Given the description of an element on the screen output the (x, y) to click on. 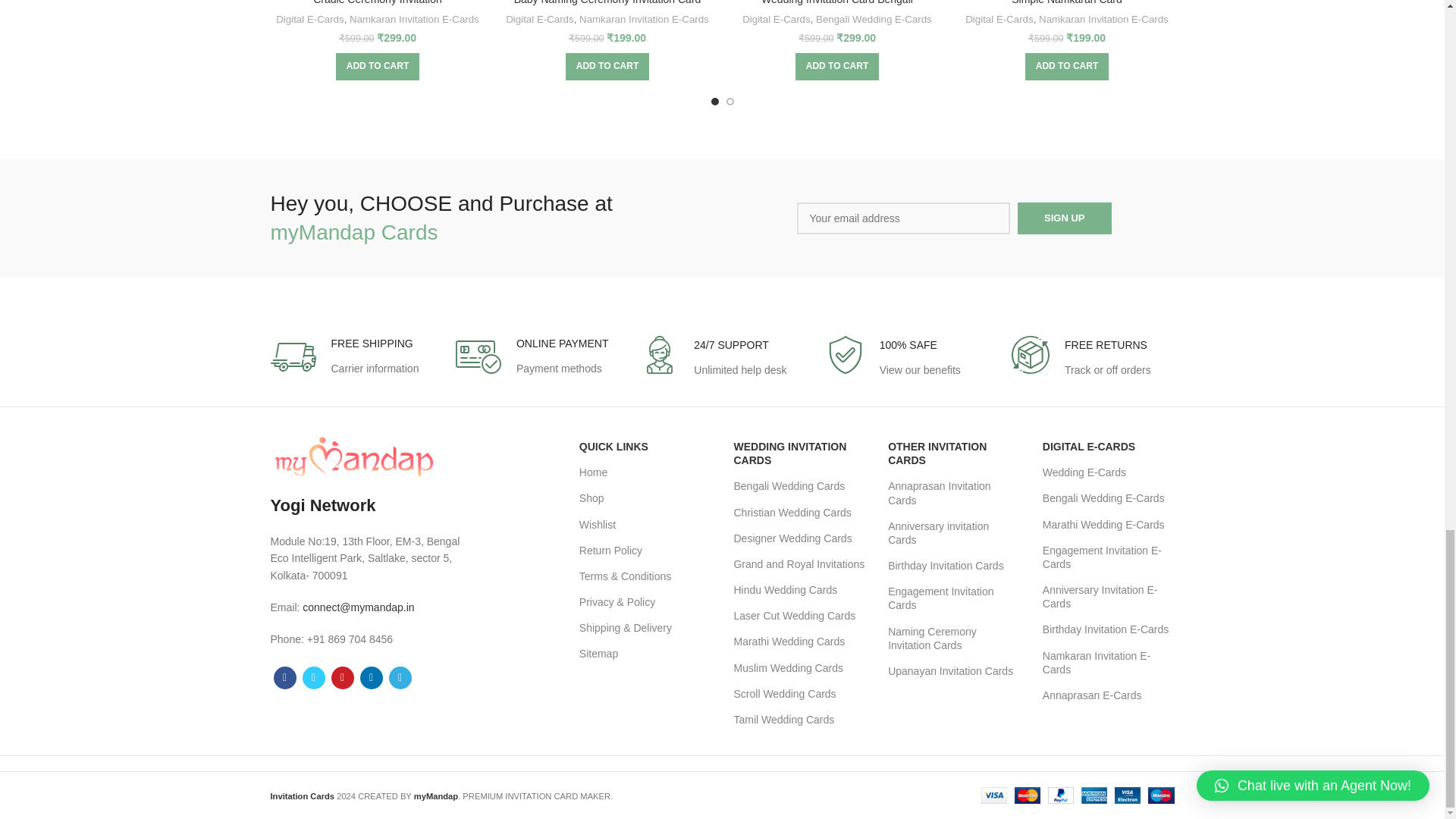
Minimum qty is 1 (607, 66)
Minimum qty is 1 (1066, 66)
Minimum qty is 1 (377, 66)
Sign up (1063, 218)
Minimum qty is 1 (836, 66)
